Given the description of an element on the screen output the (x, y) to click on. 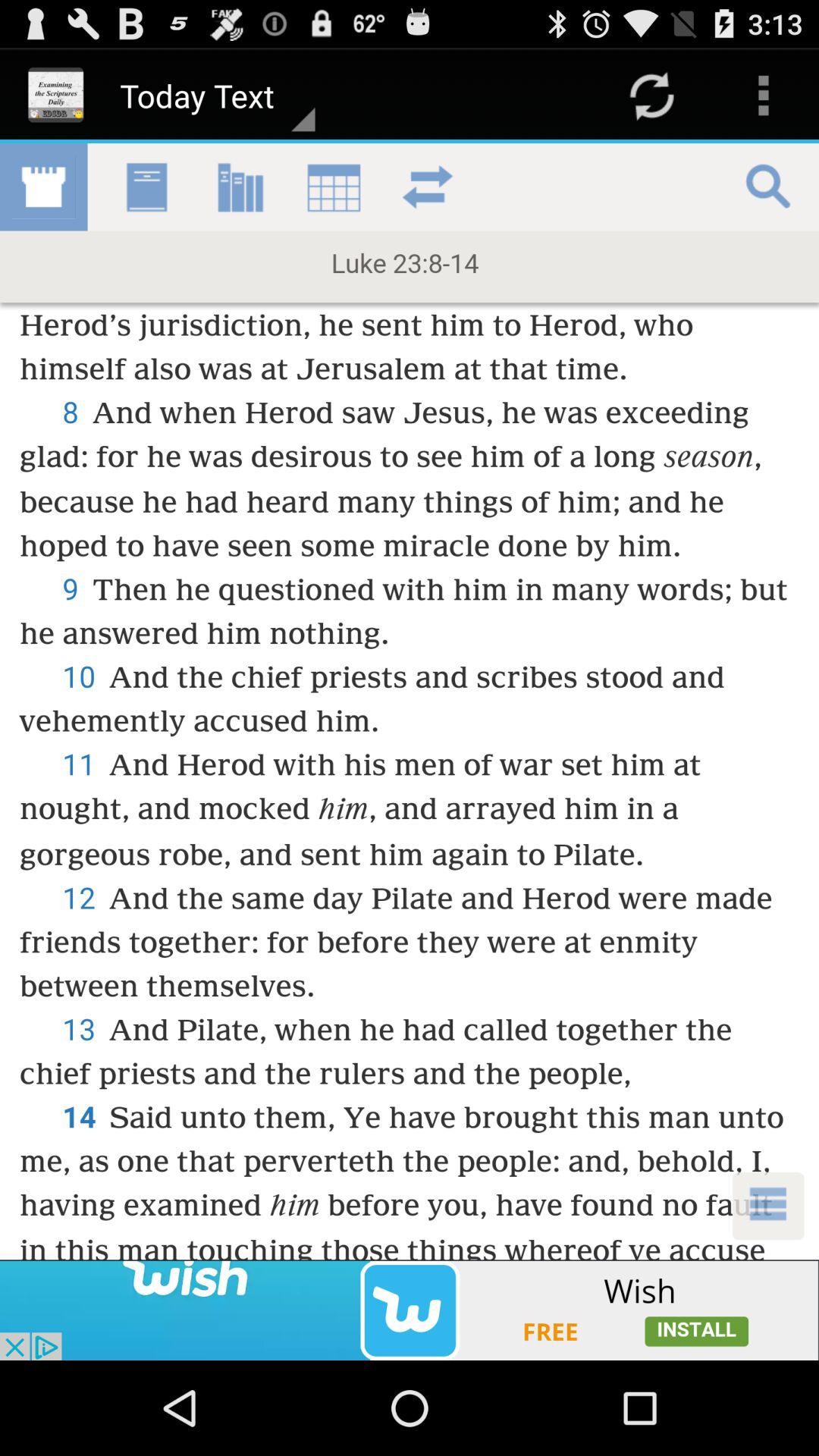
advertisement (409, 1310)
